Given the description of an element on the screen output the (x, y) to click on. 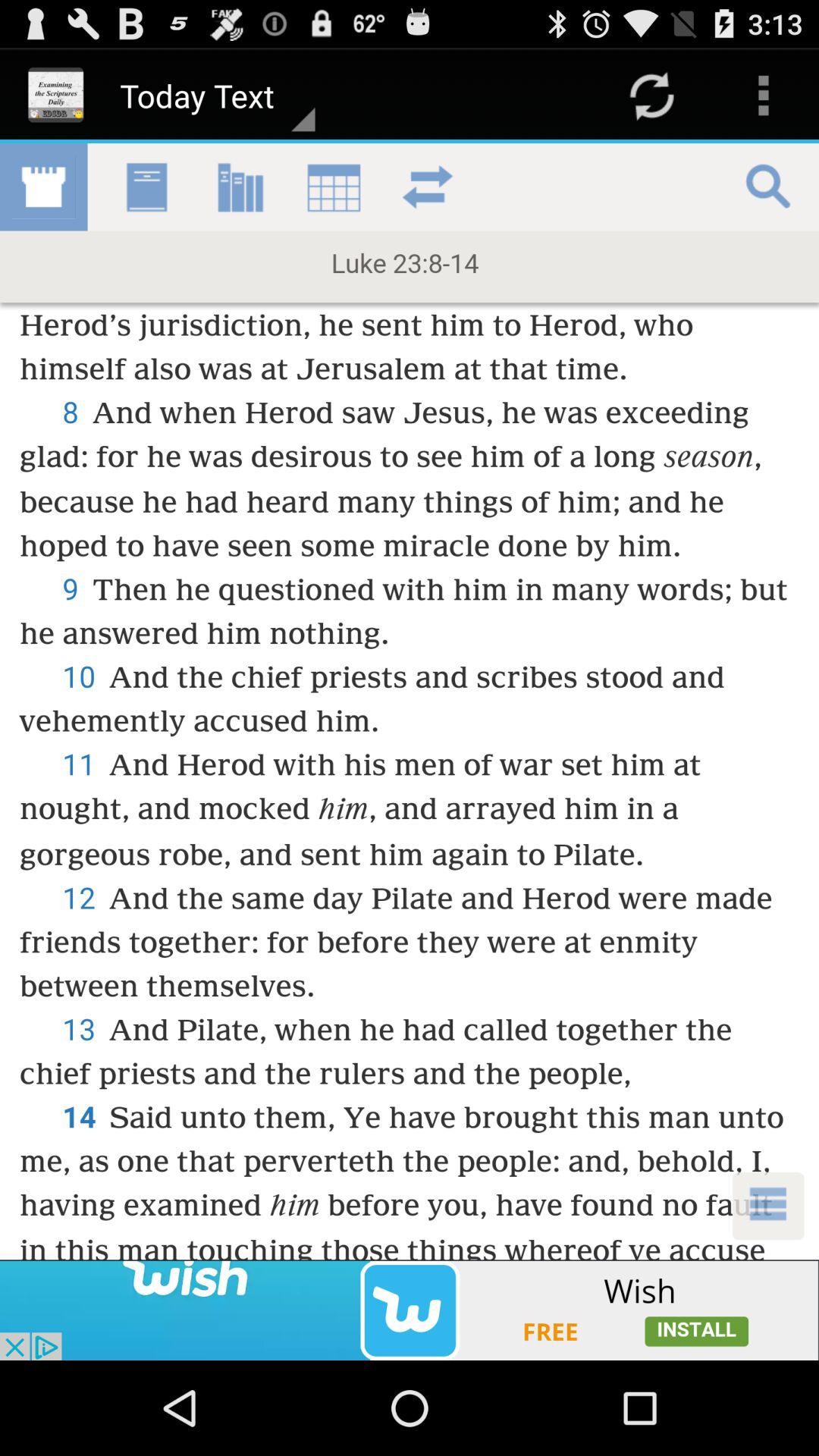
advertisement (409, 1310)
